Given the description of an element on the screen output the (x, y) to click on. 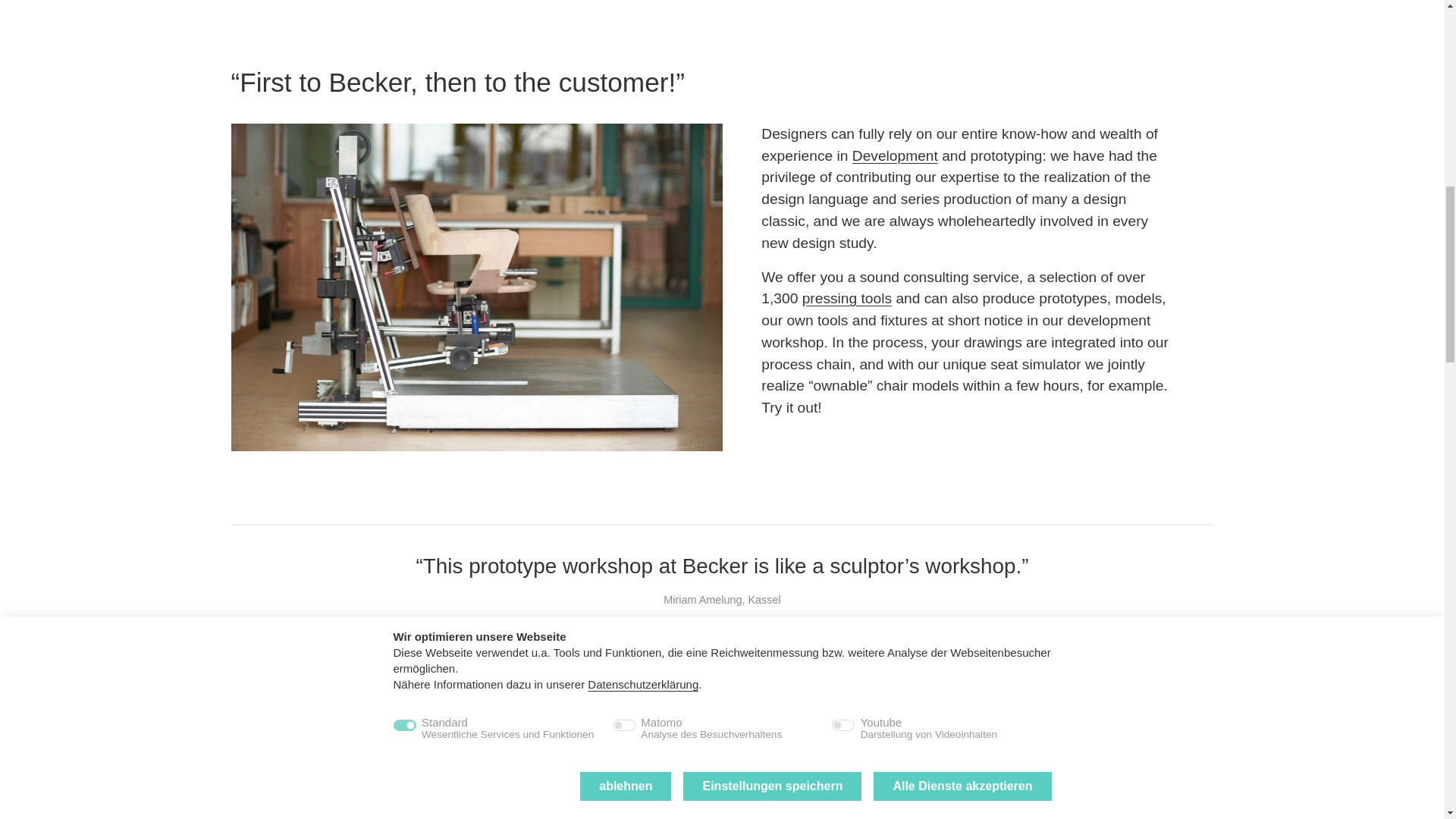
Development (894, 155)
pressing tools (846, 298)
interzum (818, 801)
